Given the description of an element on the screen output the (x, y) to click on. 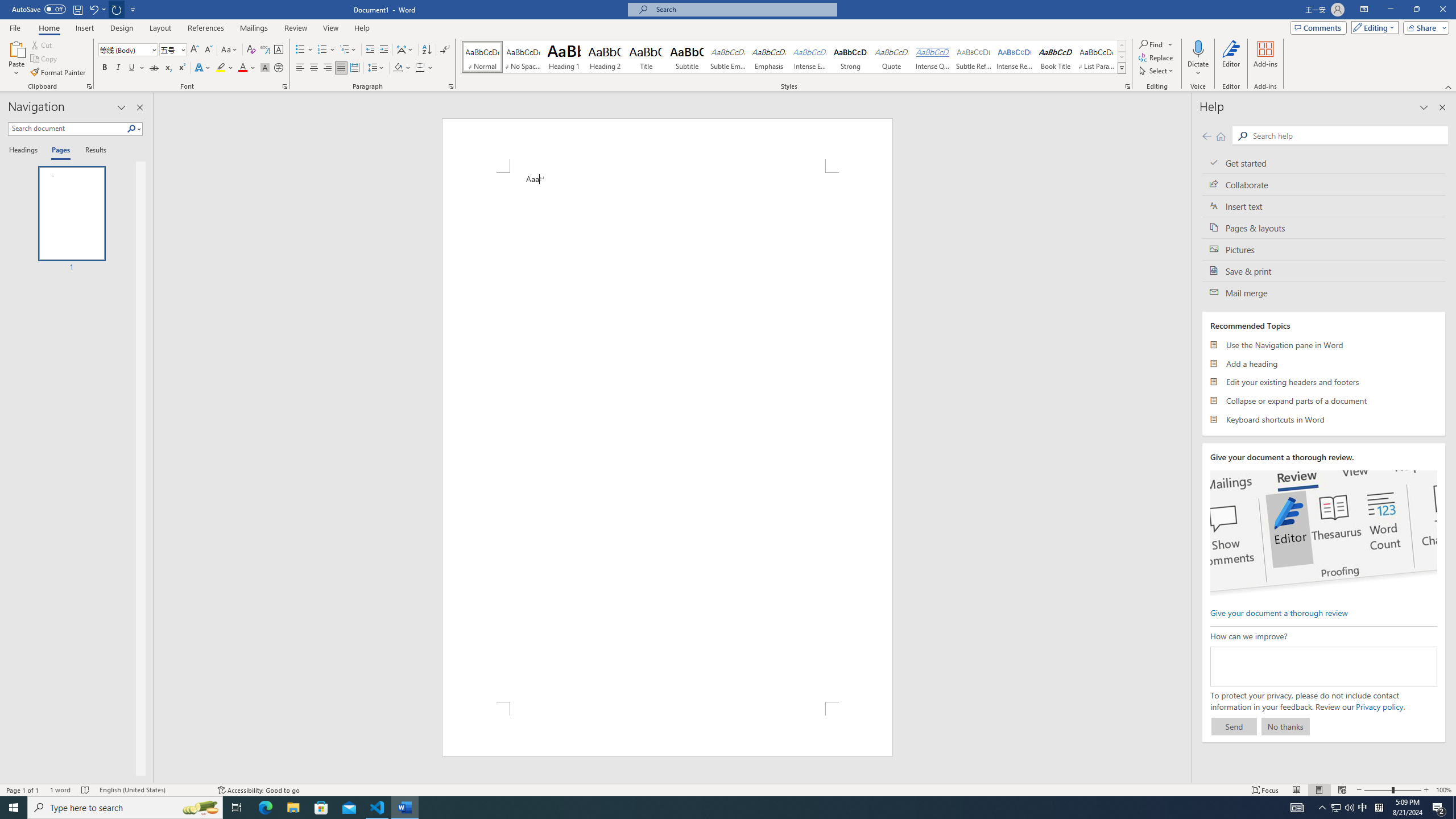
Edit your existing headers and footers (1323, 381)
AutoSave (38, 9)
View (330, 28)
Intense Reference (1014, 56)
Add a heading (1323, 363)
Search (131, 128)
Send (1233, 726)
Copy (45, 58)
Center (313, 67)
Pages & layouts (1323, 228)
Borders (419, 67)
Font Color Red (241, 67)
Align Right (327, 67)
Zoom 100% (1443, 790)
